Given the description of an element on the screen output the (x, y) to click on. 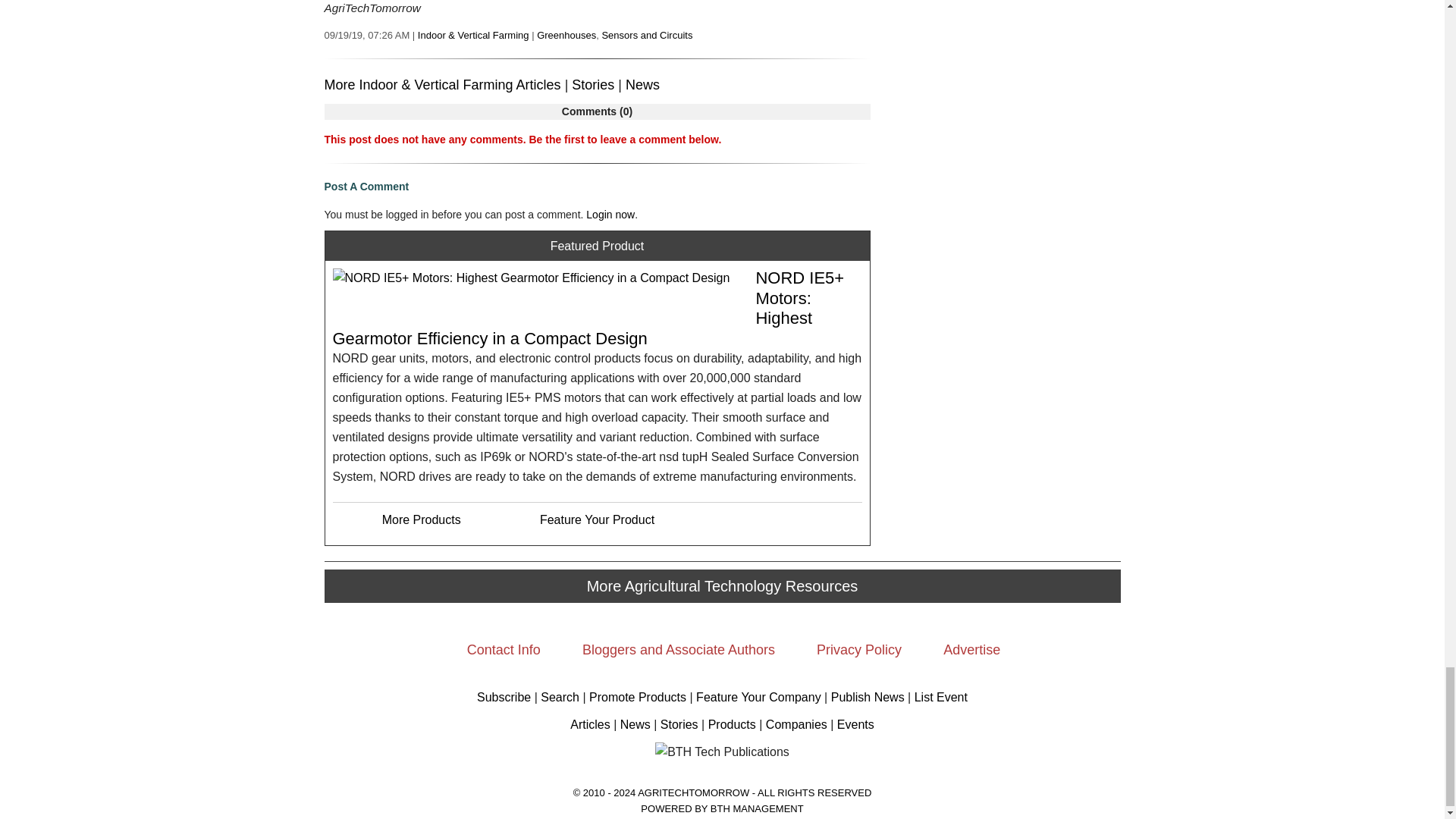
Feature Your Product (596, 519)
Login now (610, 214)
Greenhouses (566, 34)
More Products (421, 519)
Stories (593, 84)
News (642, 84)
Sensors and Circuits (647, 34)
